Given the description of an element on the screen output the (x, y) to click on. 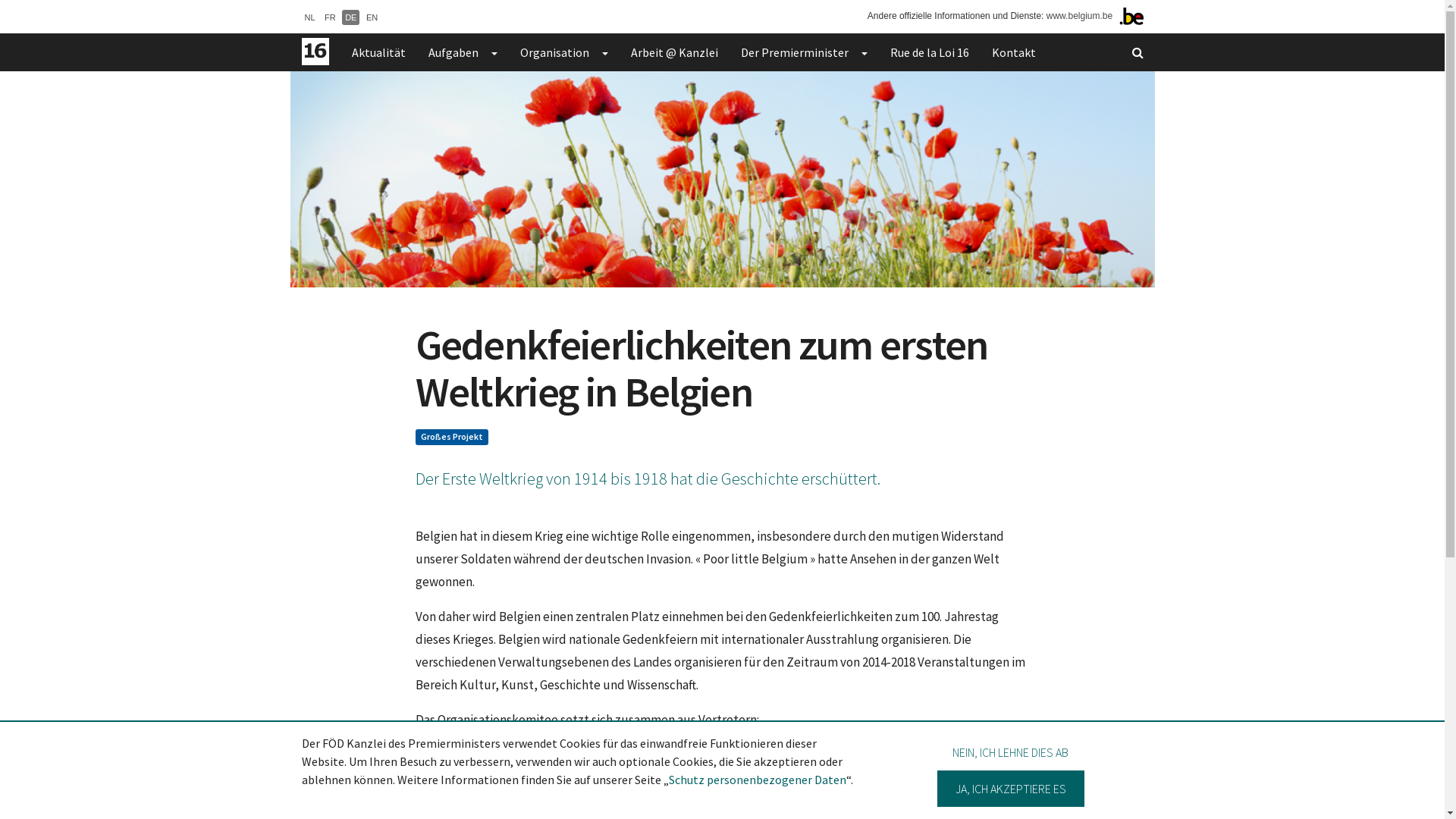
Direkt zum Inhalt Element type: text (0, 0)
www.belgium.be Element type: text (1079, 15)
Startseite Element type: hover (314, 51)
Der Premierminister Element type: text (788, 52)
NEIN, ICH LEHNE DIES AB Element type: text (1010, 752)
Organisation Element type: text (548, 52)
DE Element type: text (350, 17)
FR Element type: text (329, 17)
Aufgaben Element type: text (447, 52)
Open Der Premierminister Submenu Element type: text (862, 52)
Schutz personenbezogener Daten Element type: text (757, 779)
NL Element type: text (309, 17)
Open Organisation Submenu Element type: text (603, 52)
Suche Element type: text (1137, 52)
Rue de la Loi 16 Element type: text (928, 52)
EN Element type: text (371, 17)
Arbeit @ Kanzlei Element type: text (673, 52)
Open Aufgaben Submenu Element type: text (492, 52)
Kontakt Element type: text (1012, 52)
JA, ICH AKZEPTIERE ES Element type: text (1010, 788)
